Given the description of an element on the screen output the (x, y) to click on. 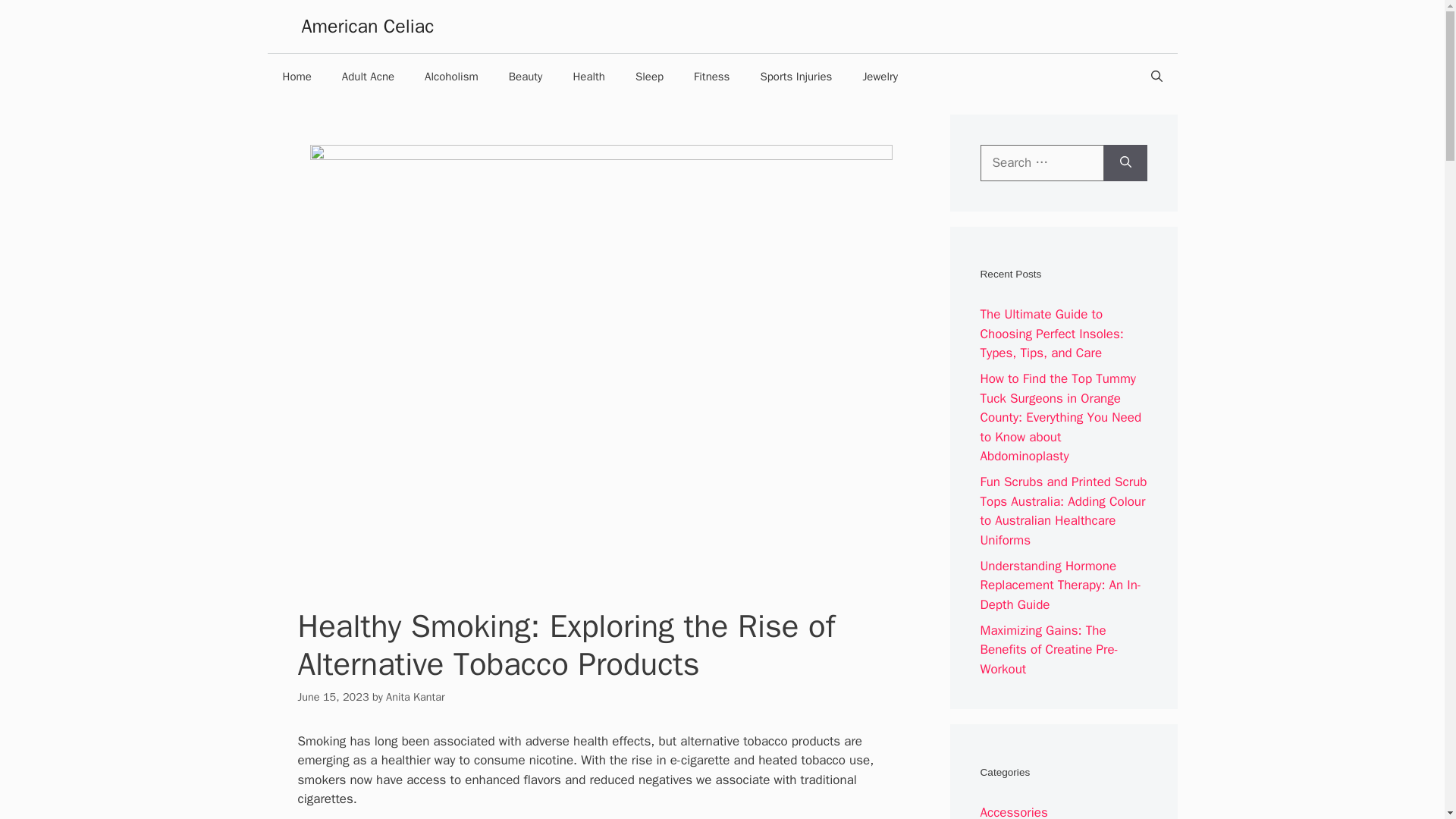
Home (296, 76)
Beauty (525, 76)
American Celiac (367, 25)
Maximizing Gains: The Benefits of Creatine Pre-Workout (1048, 649)
Sleep (649, 76)
Search for: (1041, 162)
Adult Acne (367, 76)
View all posts by Anita Kantar (415, 696)
